Given the description of an element on the screen output the (x, y) to click on. 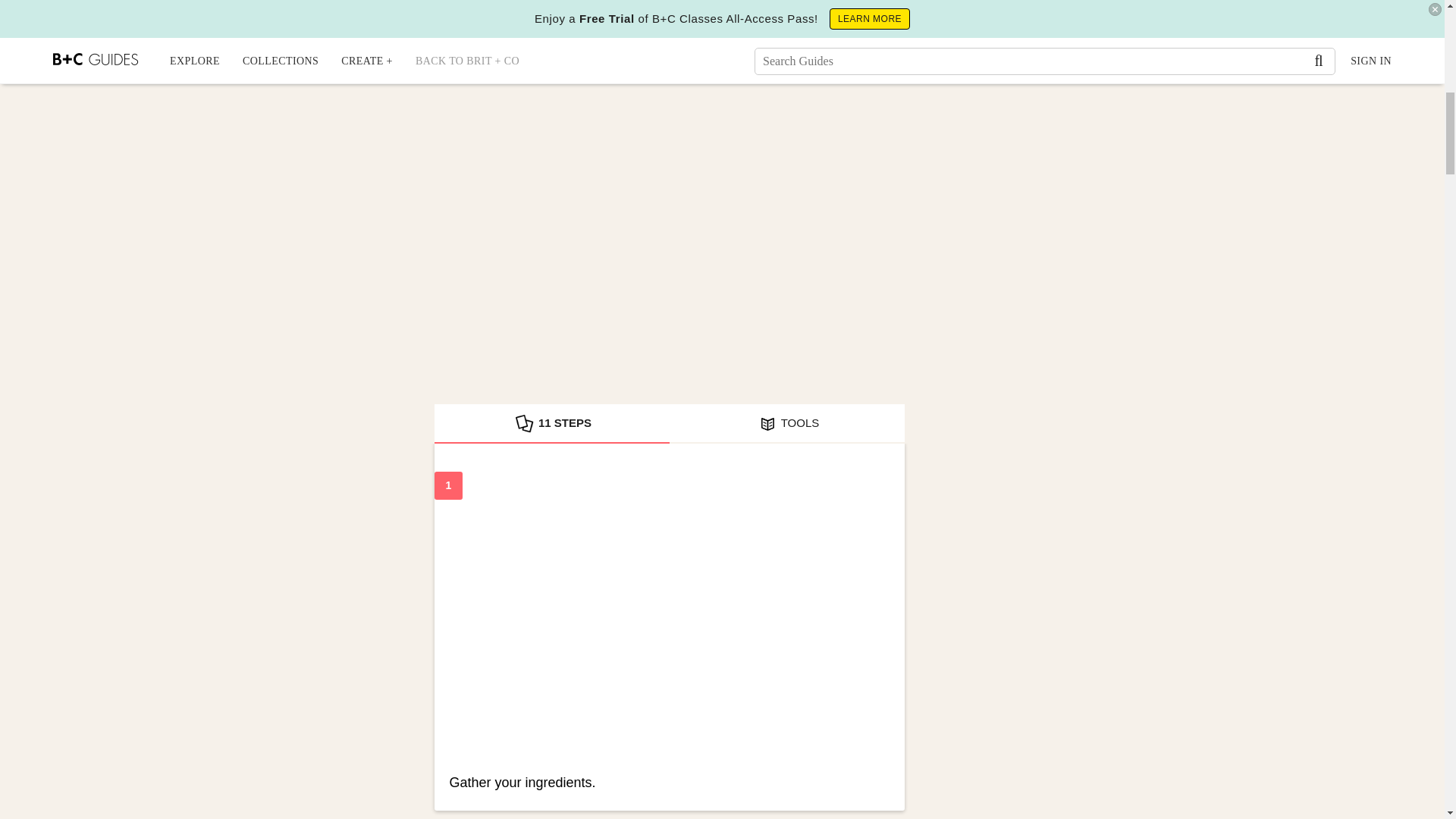
3rd party ad content (1047, 117)
